Given the description of an element on the screen output the (x, y) to click on. 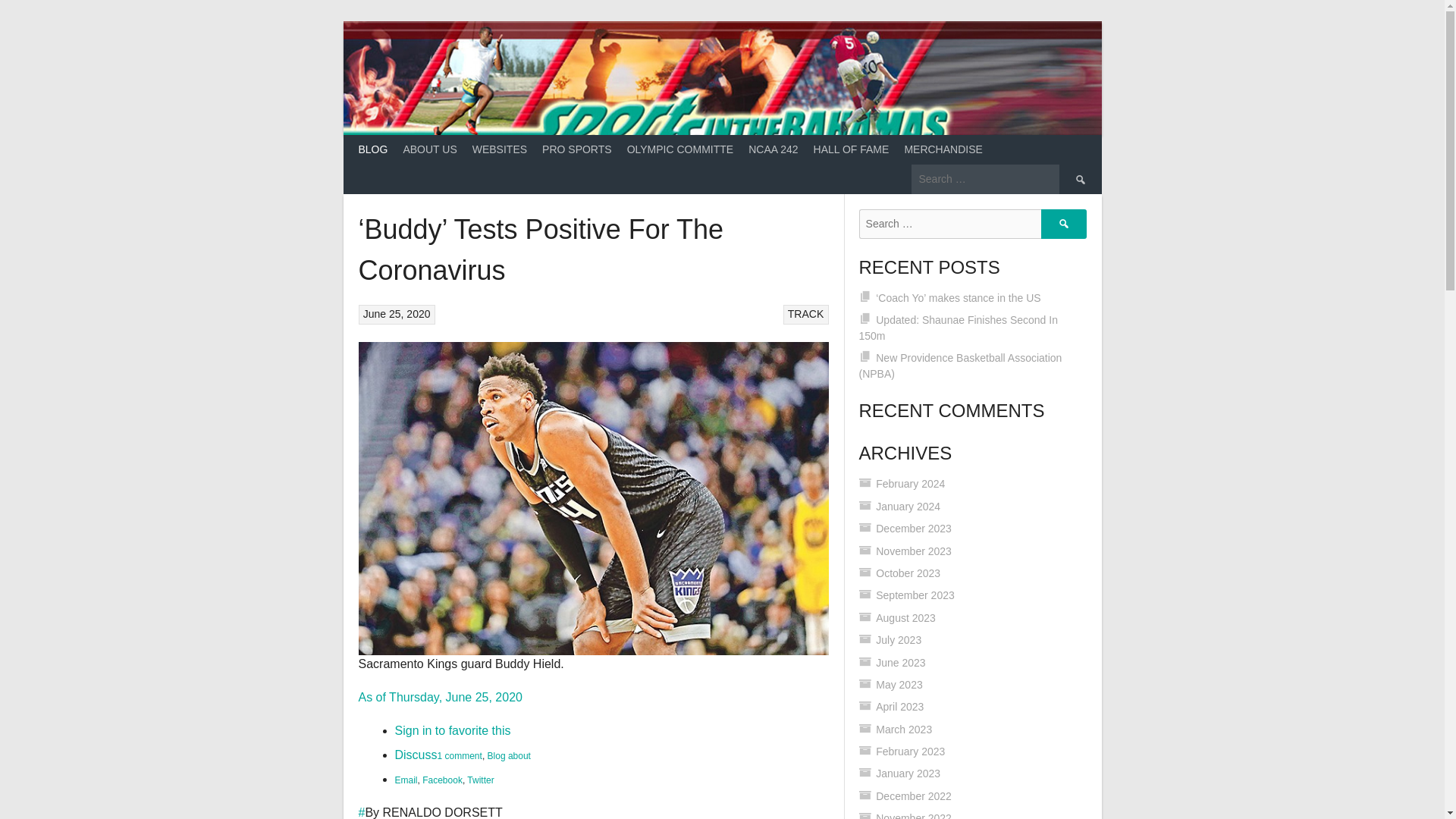
PRO SPORTS (577, 149)
Search (1079, 178)
ABOUT US (429, 149)
WEBSITES (499, 149)
BLOG (372, 149)
Search (1063, 224)
